Given the description of an element on the screen output the (x, y) to click on. 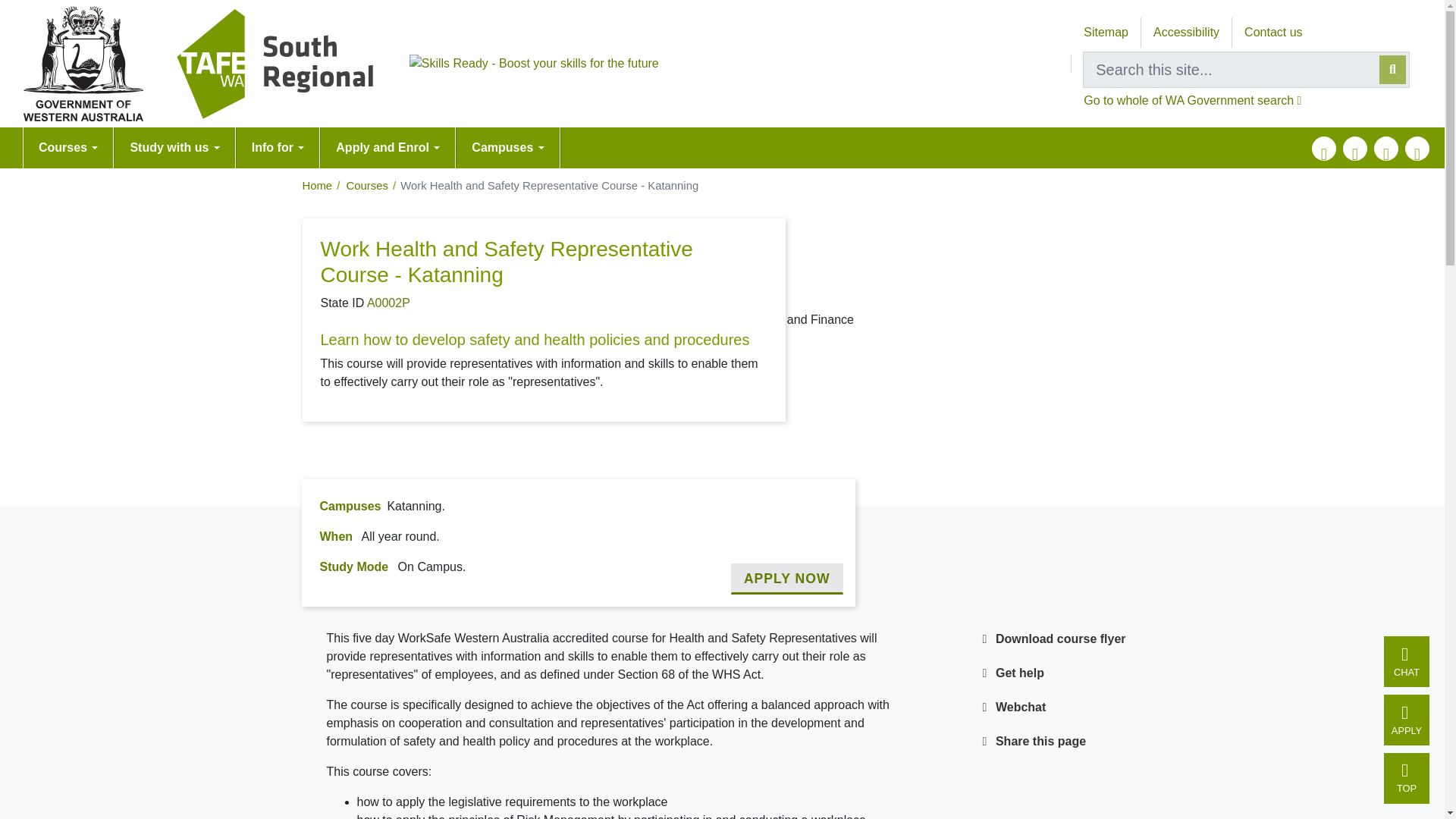
Accessibility (1186, 32)
Search (1392, 69)
Study with us (174, 147)
APPLY NOW (786, 578)
Go to whole of WA Government search (1192, 100)
Contact us (1272, 32)
Apply Now (786, 578)
Courses (68, 147)
Apply and Enrol (387, 147)
Sitemap (1105, 32)
